Given the description of an element on the screen output the (x, y) to click on. 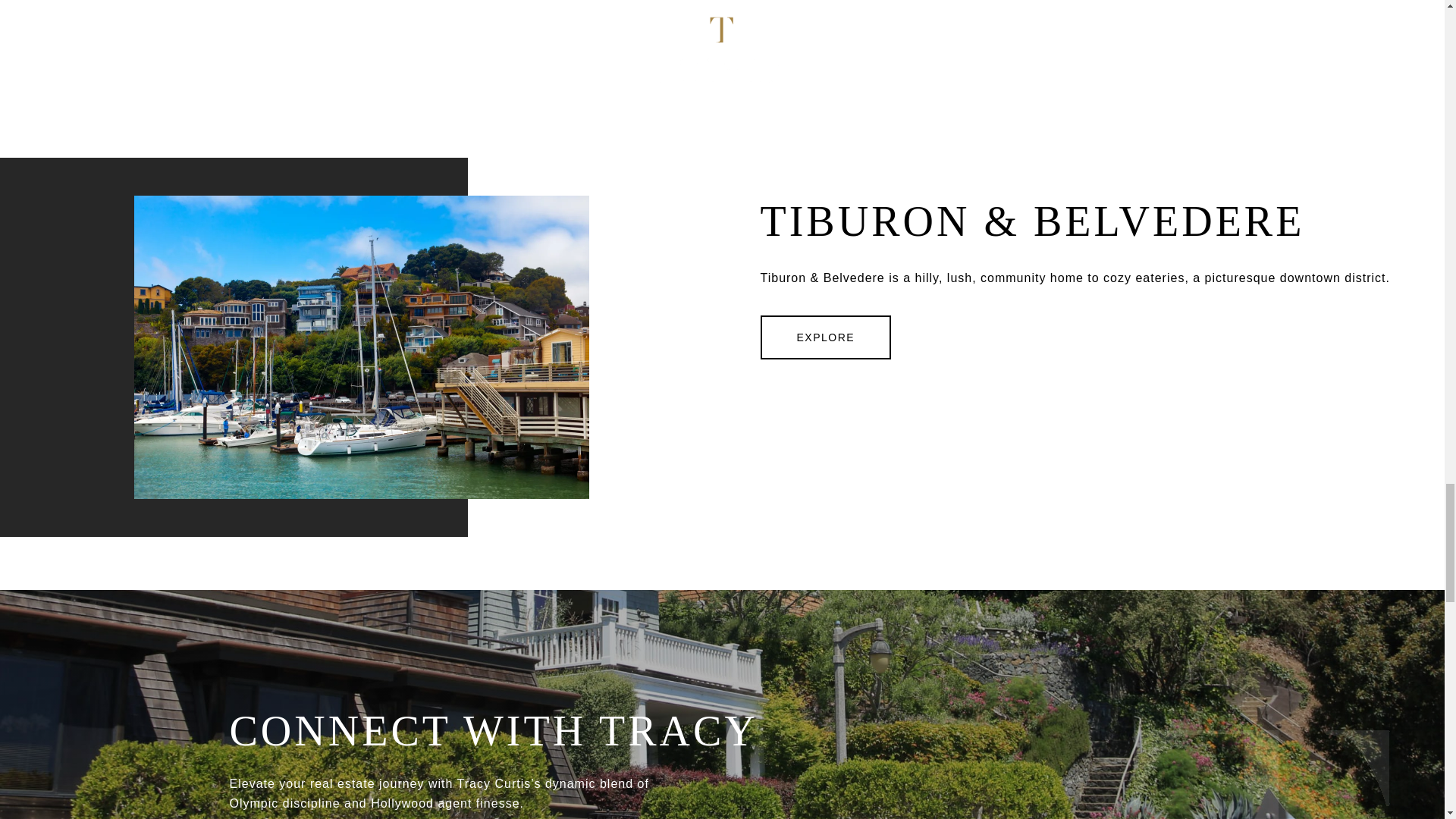
EXPLORE (825, 337)
